Given the description of an element on the screen output the (x, y) to click on. 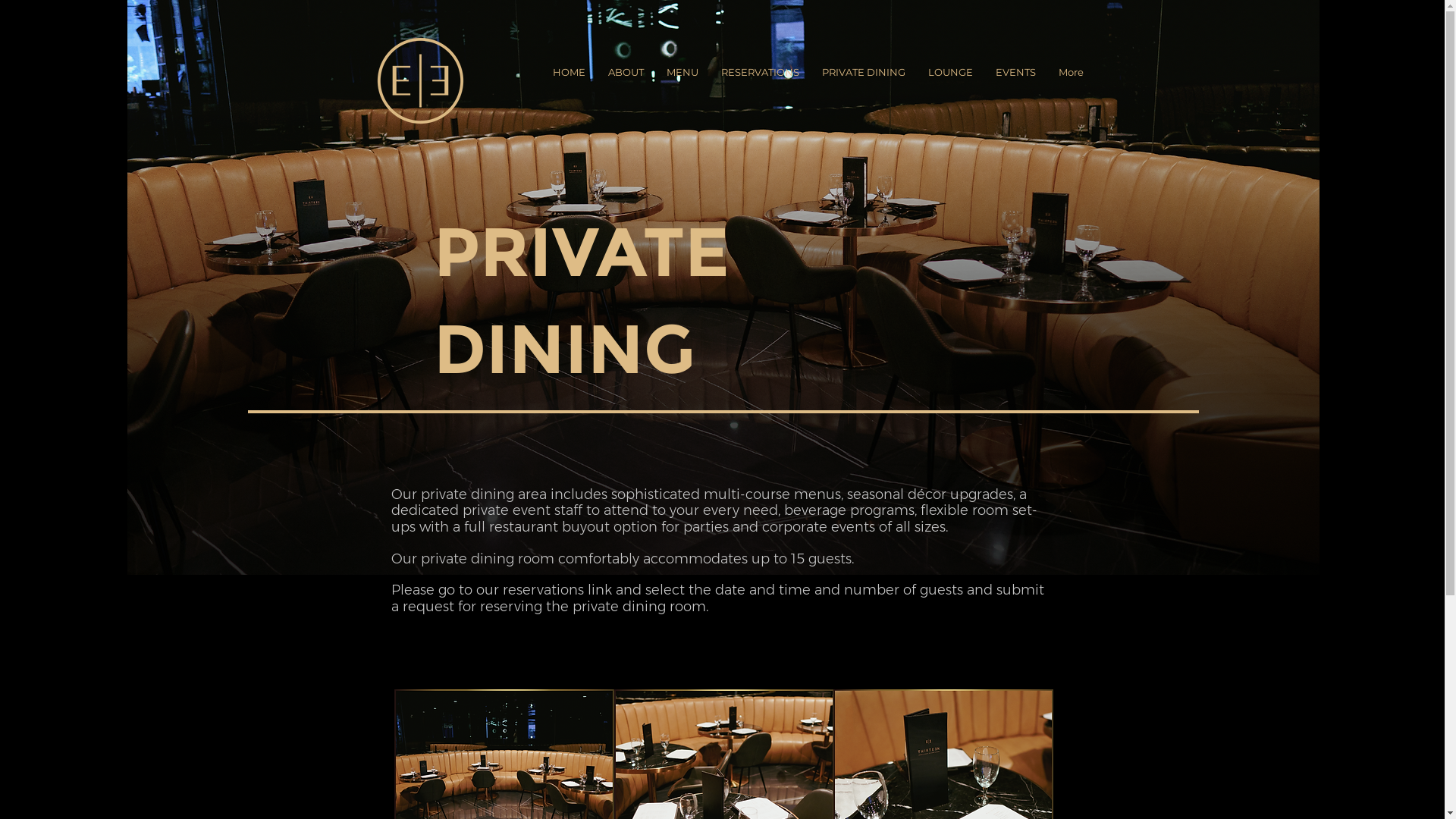
PRIVATE DINING Element type: text (862, 80)
ABOUT Element type: text (625, 80)
HOME Element type: text (568, 80)
MENU Element type: text (682, 80)
LOUNGE Element type: text (949, 80)
EVENTS Element type: text (1015, 80)
RESERVATIONS Element type: text (759, 80)
